Given the description of an element on the screen output the (x, y) to click on. 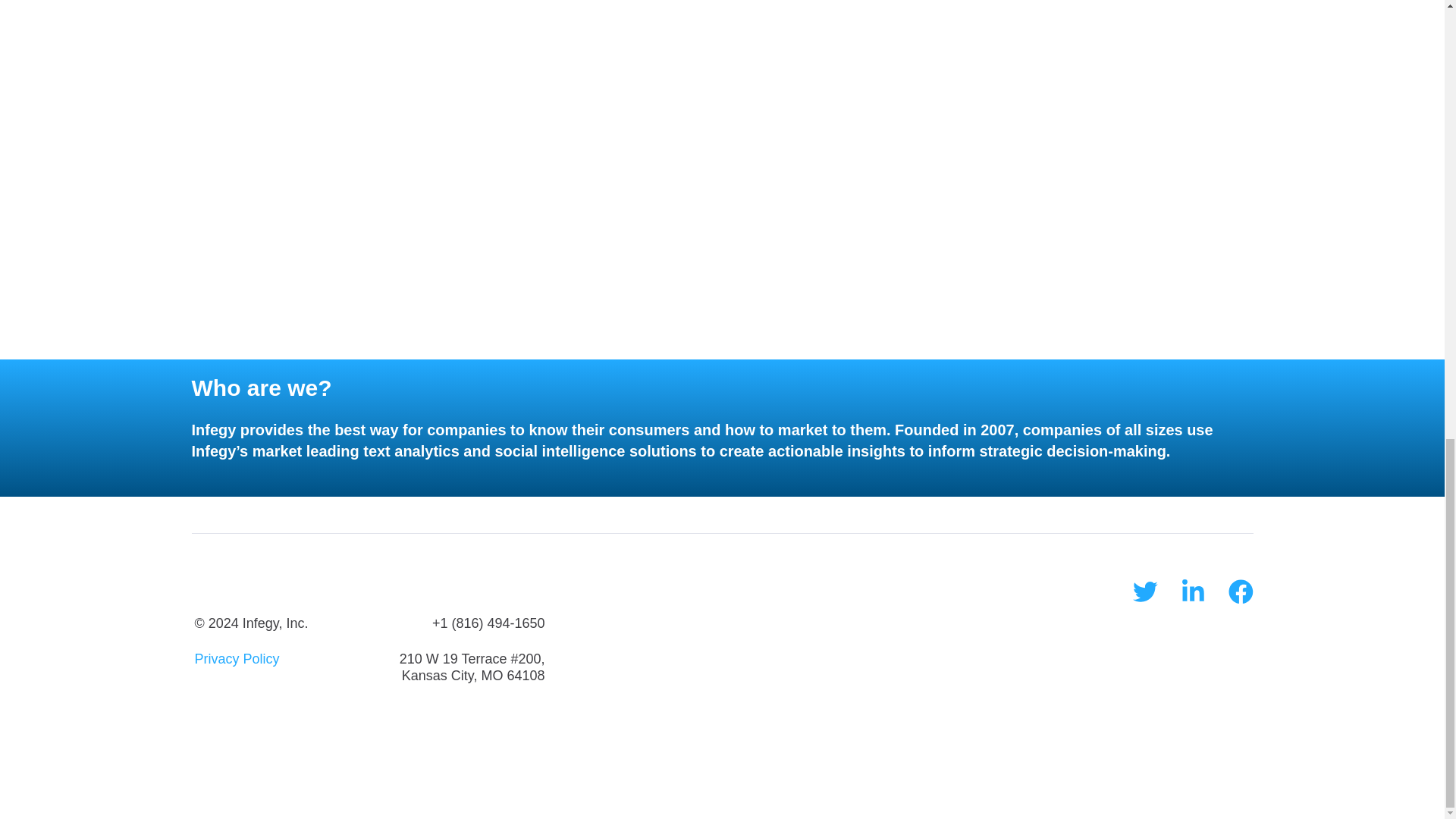
Privacy Policy (236, 658)
